Given the description of an element on the screen output the (x, y) to click on. 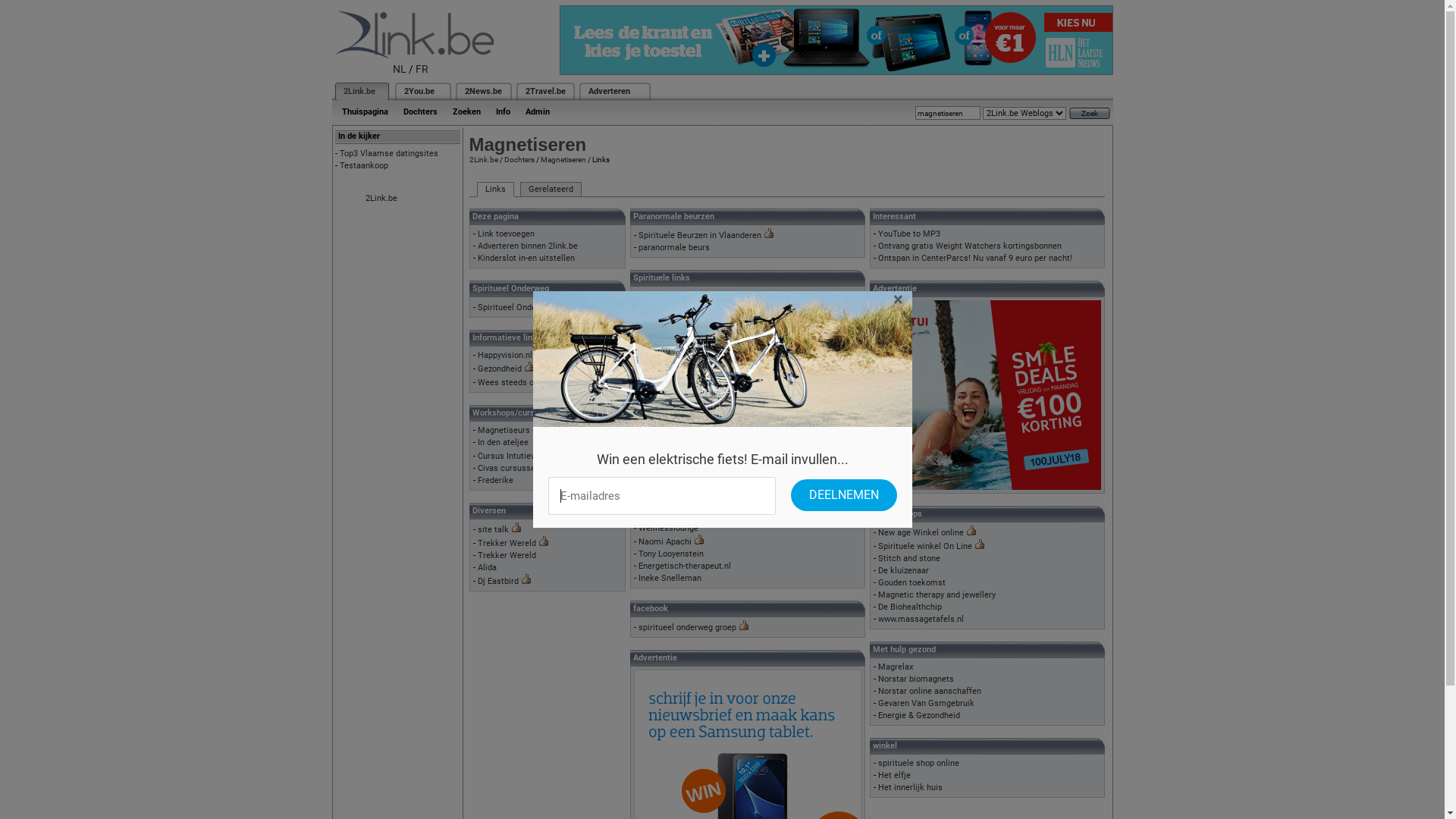
Malle Element type: text (648, 468)
Gezondheid Element type: text (499, 368)
Admin Element type: text (536, 111)
AV Coaching Element type: text (662, 357)
In den ateljee Element type: text (502, 442)
Trekker Wereld Element type: text (506, 555)
Link toevoegen Element type: text (505, 233)
New Age Shop Element type: text (665, 308)
2Link.be Element type: text (358, 91)
Easy Promo Element type: text (660, 456)
Gevaren Van Gsmgebruik Element type: text (926, 703)
Magrelax Element type: text (895, 666)
www.massagetafels.nl Element type: text (920, 619)
Het elfje Element type: text (894, 775)
Thuispagina Element type: text (364, 111)
2News.be Element type: text (482, 91)
Stitch and stone Element type: text (909, 558)
Dj Eastbird Element type: text (497, 581)
Gerelateerd Element type: text (550, 189)
Zoek Element type: text (1089, 113)
Naomi Apachi Element type: text (664, 541)
Civas cursussen Element type: text (508, 468)
Adverteren Element type: text (609, 91)
YouTube to MP3 Element type: text (909, 233)
Het innerlijk huis Element type: text (910, 787)
Testaankoop Element type: text (363, 165)
Magnetic therapy and jewellery Element type: text (936, 594)
Spiritueel Onderweg hoofdsite Element type: text (534, 307)
FR Element type: text (421, 68)
2You.be Element type: text (418, 91)
Alida Element type: text (486, 567)
2Travel.be Element type: text (544, 91)
site talk Element type: text (492, 529)
Spirituele winkel On Line Element type: text (925, 546)
Magnetiseurs - ZoMa Opleidingen Element type: text (541, 430)
Magnetiseur Element type: text (662, 515)
spirituele shop online Element type: text (918, 763)
Norstar online aanschaffen Element type: text (929, 691)
Happyvision.nl Element type: text (504, 355)
Cursus Intutieve Ontwikkeling Element type: text (533, 456)
Links Element type: text (494, 189)
Ineke Snelleman Element type: text (669, 578)
2Link.be Element type: text (482, 159)
Dochters Element type: text (518, 159)
New age Winkel online Element type: text (920, 532)
Energetisch-therapeut.nl Element type: text (684, 566)
Trekker Wereld Element type: text (506, 543)
Jana web Element type: text (656, 345)
Norstar biomagnets Element type: text (915, 679)
Top3 Vlaamse datingsites Element type: text (388, 153)
De bron van licht Element type: text (669, 333)
spiritueel onderweg groep Element type: text (687, 627)
Zoeken Element type: text (465, 111)
2Link.be Element type: text (381, 198)
Spirituele Beurzen in Vlaanderen Element type: text (699, 235)
Gouden toekomst Element type: text (911, 582)
Angelsbridge Element type: text (662, 295)
Dochters Element type: text (420, 111)
De Biohealthchip Element type: text (909, 606)
Frederike Element type: text (495, 480)
Wees steeds op de hoogte Element type: text (527, 382)
Kinderslot in-en uitstellen Element type: text (525, 258)
Ontvang gratis Weight Watchers kortingsbonnen Element type: text (969, 246)
Groei spiritueel Element type: text (667, 321)
Magnetiseren Element type: text (562, 159)
Wellnesslounge Element type: text (668, 528)
Ontspan in CenterParcs! Nu vanaf 9 euro per nacht! Element type: text (975, 258)
paranormale beurs Element type: text (673, 247)
Tony Looyenstein Element type: text (670, 553)
Info Element type: text (502, 111)
Energie & Gezondheid Element type: text (919, 715)
Adverteren binnen 2link.be Element type: text (527, 246)
De kluizenaar Element type: text (903, 570)
NL Element type: text (399, 68)
